Given the description of an element on the screen output the (x, y) to click on. 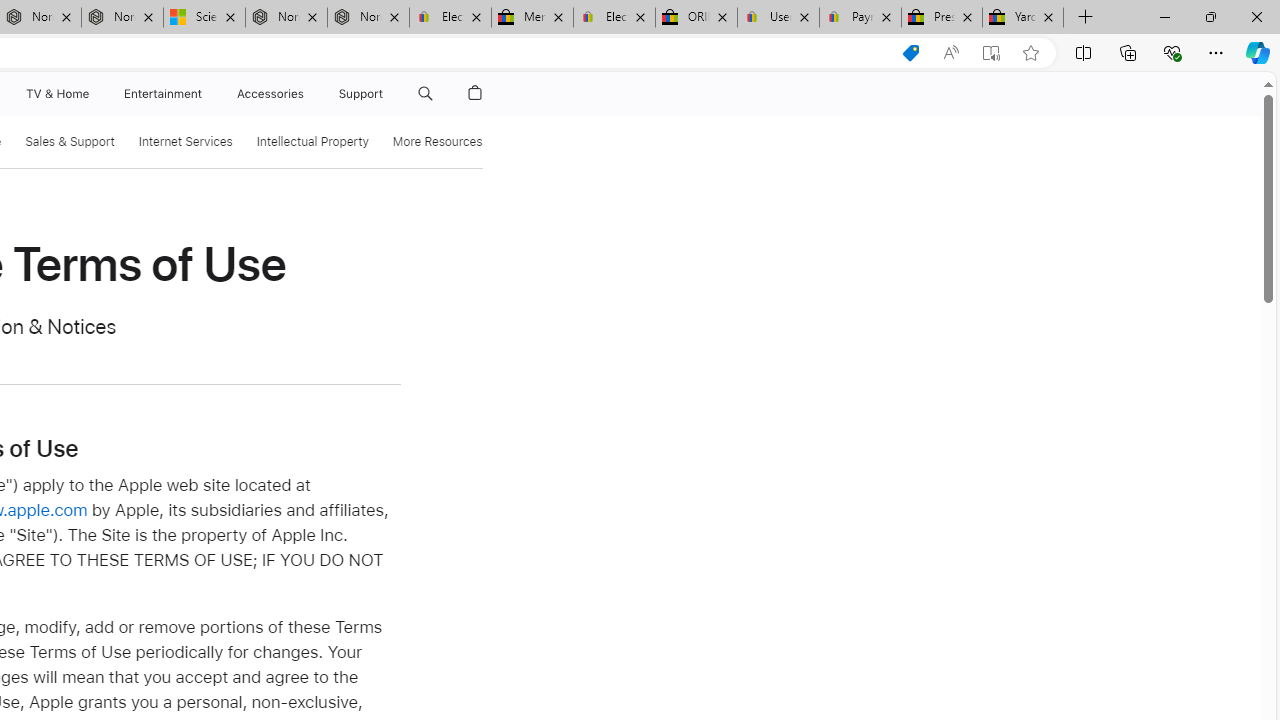
TV and Home (56, 93)
TV and Home menu (92, 93)
Class: globalnav-submenu-trigger-item (387, 93)
Sales & Support (70, 141)
Shopping Bag (475, 93)
AutomationID: globalnav-bag (475, 93)
More Resources (436, 141)
Support (361, 93)
Class: globalnav-item globalnav-search shift-0-1 (425, 93)
